Given the description of an element on the screen output the (x, y) to click on. 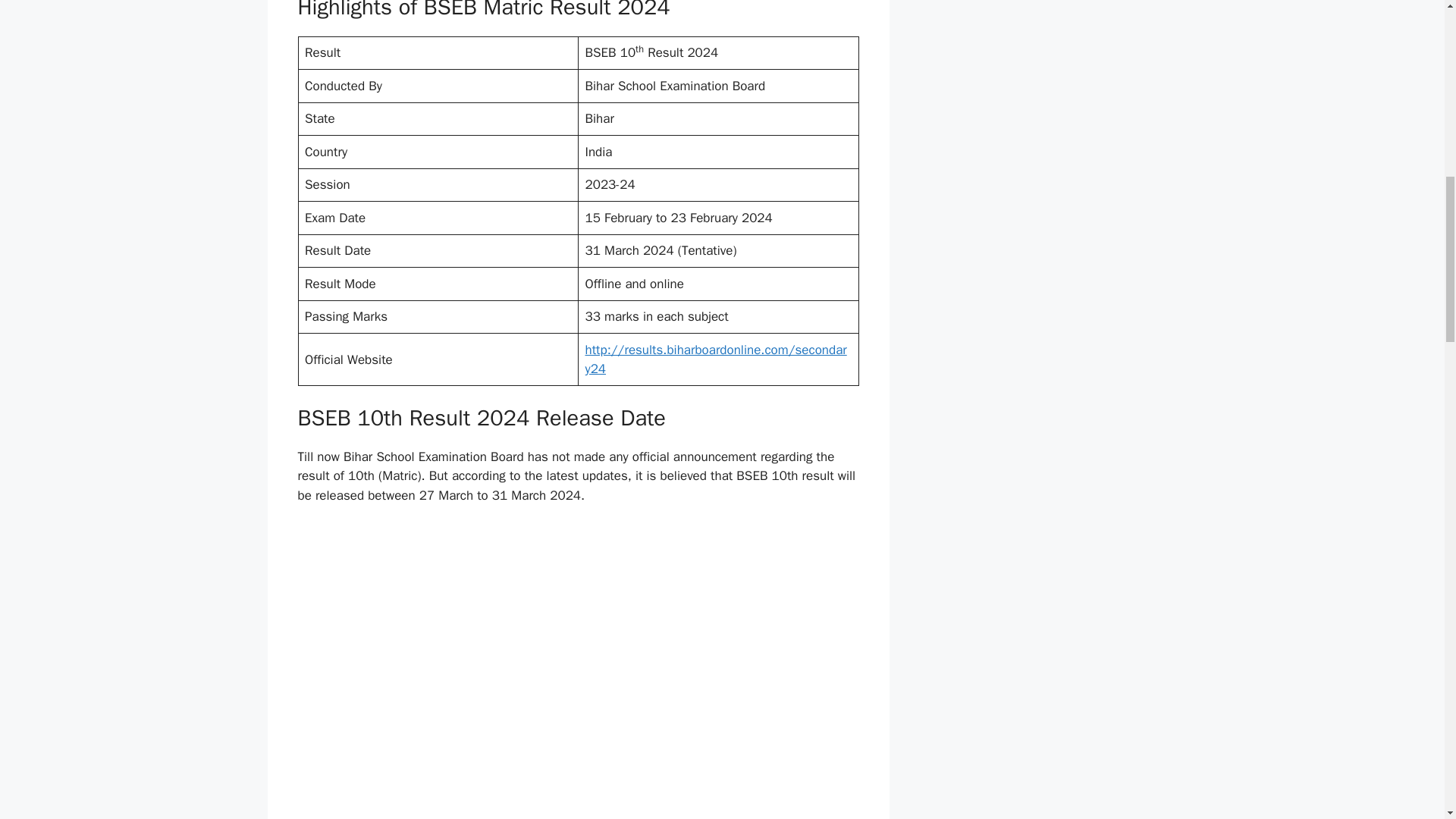
Scroll back to top (1406, 720)
